Given the description of an element on the screen output the (x, y) to click on. 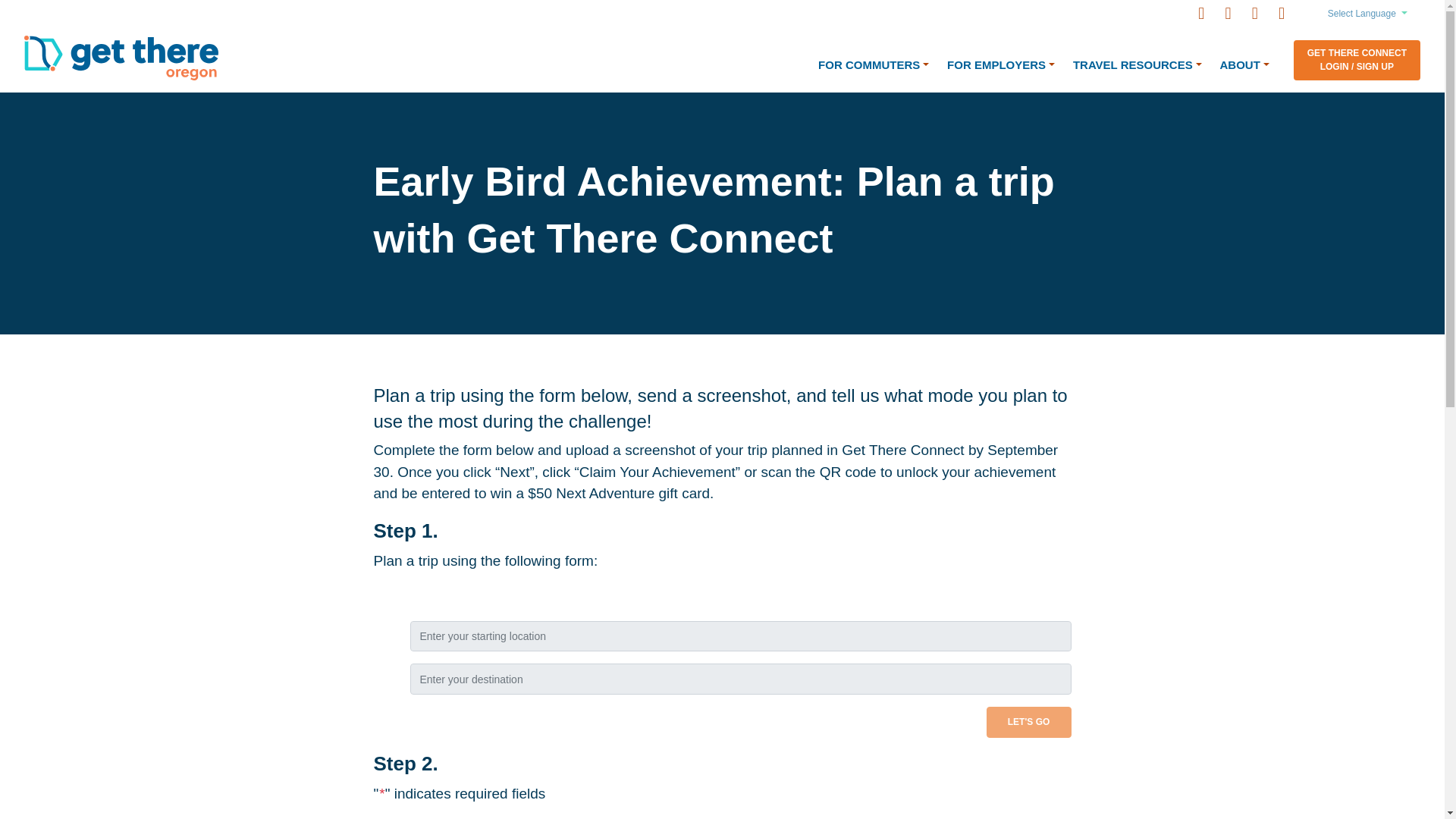
For Commuters (873, 65)
For Employers (1000, 65)
ABOUT (1244, 65)
FOR COMMUTERS (873, 65)
Select Language (1366, 13)
TRAVEL RESOURCES (1137, 65)
FOR EMPLOYERS (1000, 65)
